Given the description of an element on the screen output the (x, y) to click on. 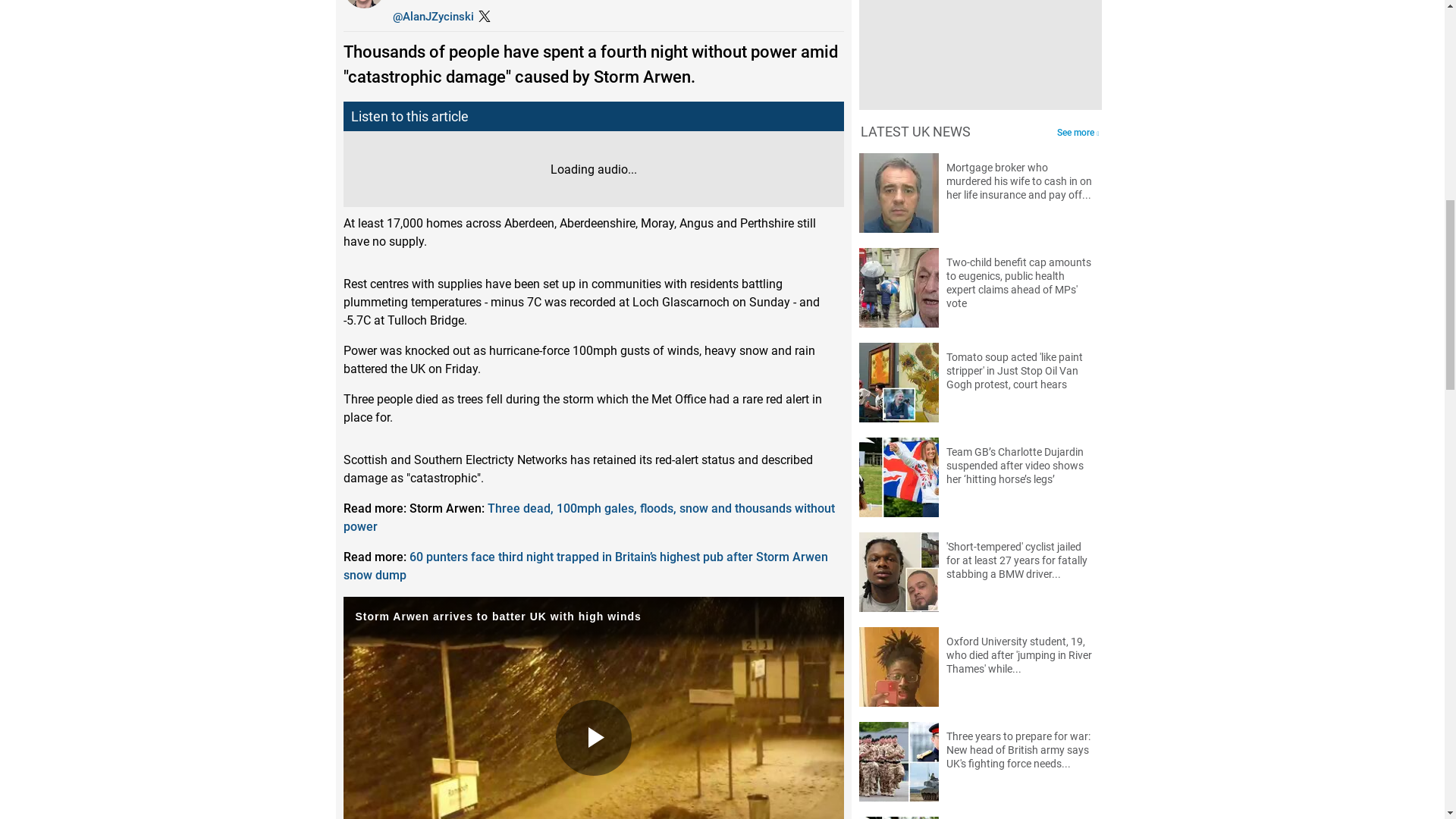
Follow Alan Zycinski on X (433, 16)
